Given the description of an element on the screen output the (x, y) to click on. 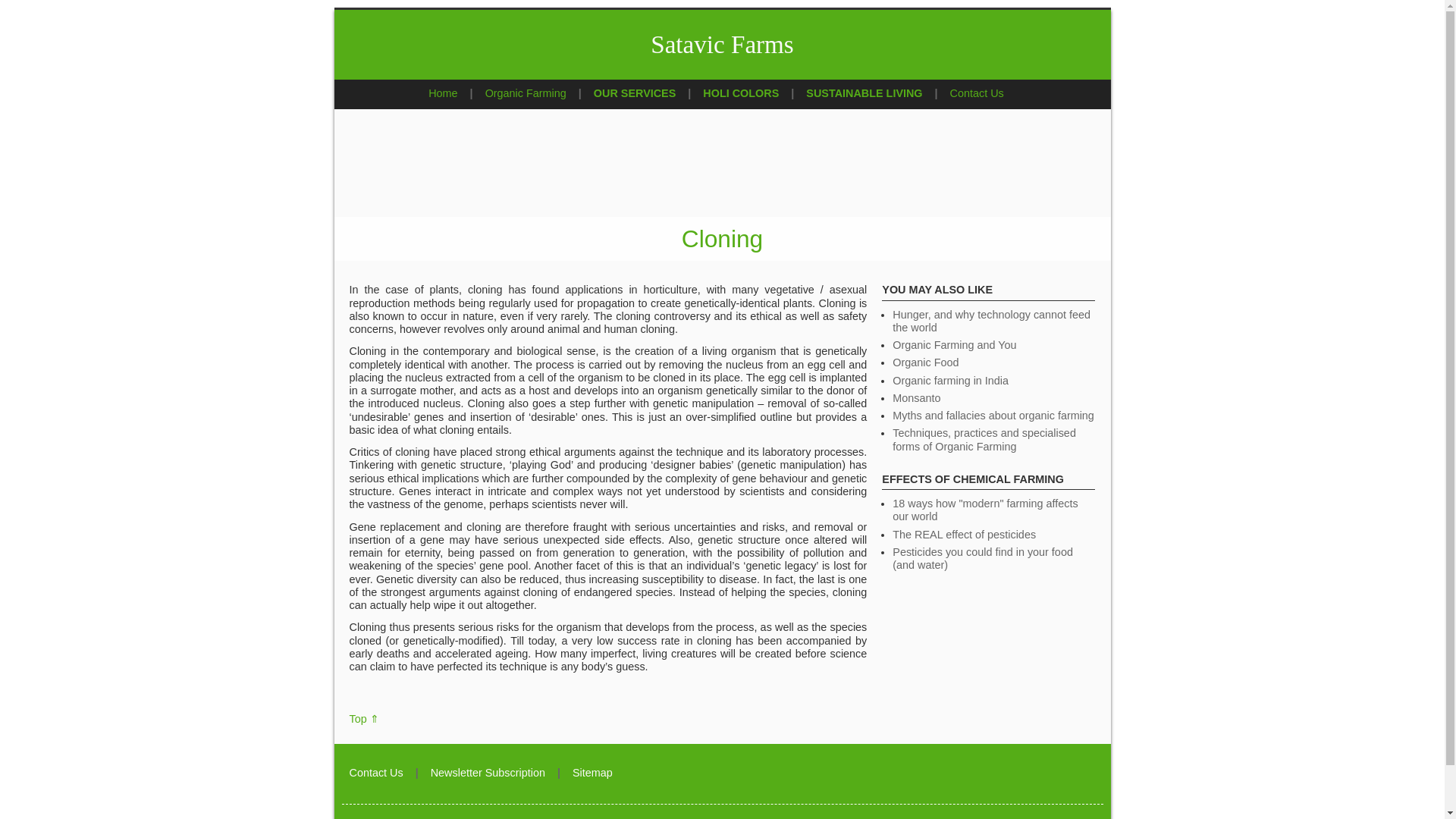
Home (442, 92)
Sitemap (592, 772)
Organic Food (925, 362)
HOLI COLORS (740, 92)
OUR SERVICES (635, 92)
Contact Us (376, 772)
18 ways how "modern" farming affects our world (984, 509)
Contact Us (977, 92)
Newsletter Subscription (487, 772)
Organic Farming (525, 92)
SUSTAINABLE LIVING (863, 92)
Facebook (1085, 775)
The REAL effect of pesticides (963, 534)
Organic farming in India (950, 380)
